Given the description of an element on the screen output the (x, y) to click on. 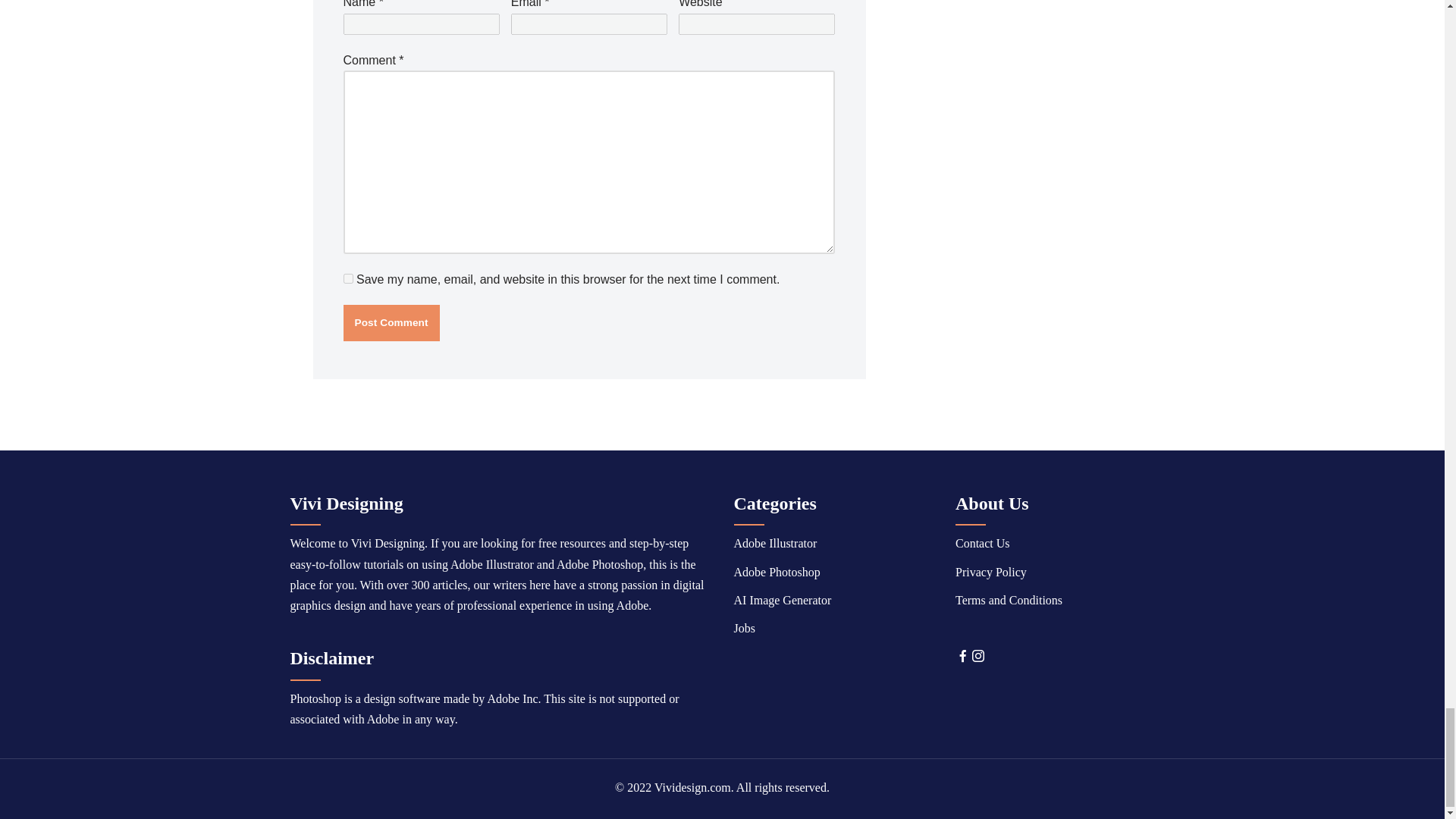
Post Comment (390, 322)
yes (347, 278)
